Given the description of an element on the screen output the (x, y) to click on. 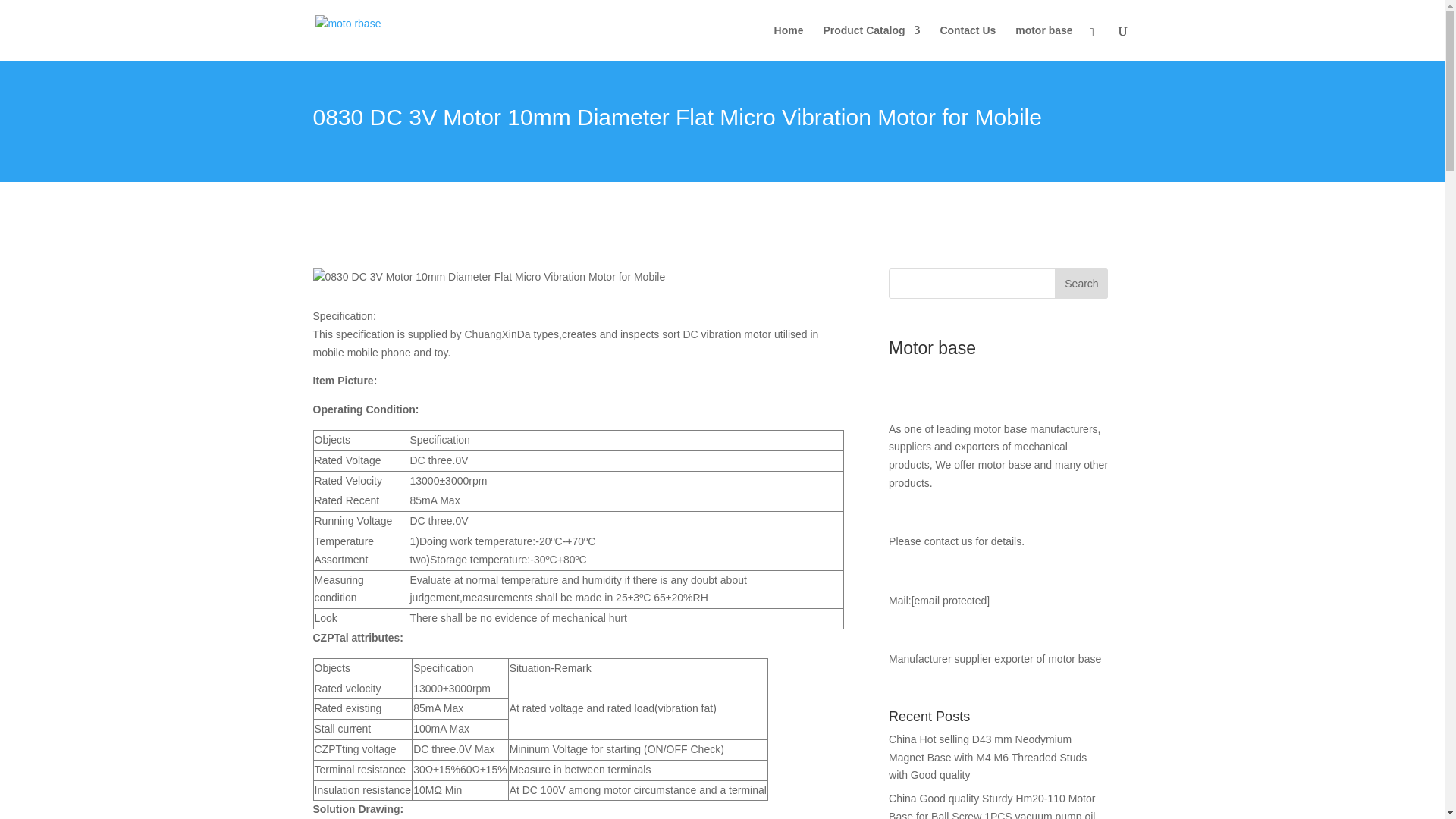
Contact Us (967, 42)
motor base (1042, 42)
Search (1081, 283)
Search (1081, 283)
Product Catalog (871, 42)
